Given the description of an element on the screen output the (x, y) to click on. 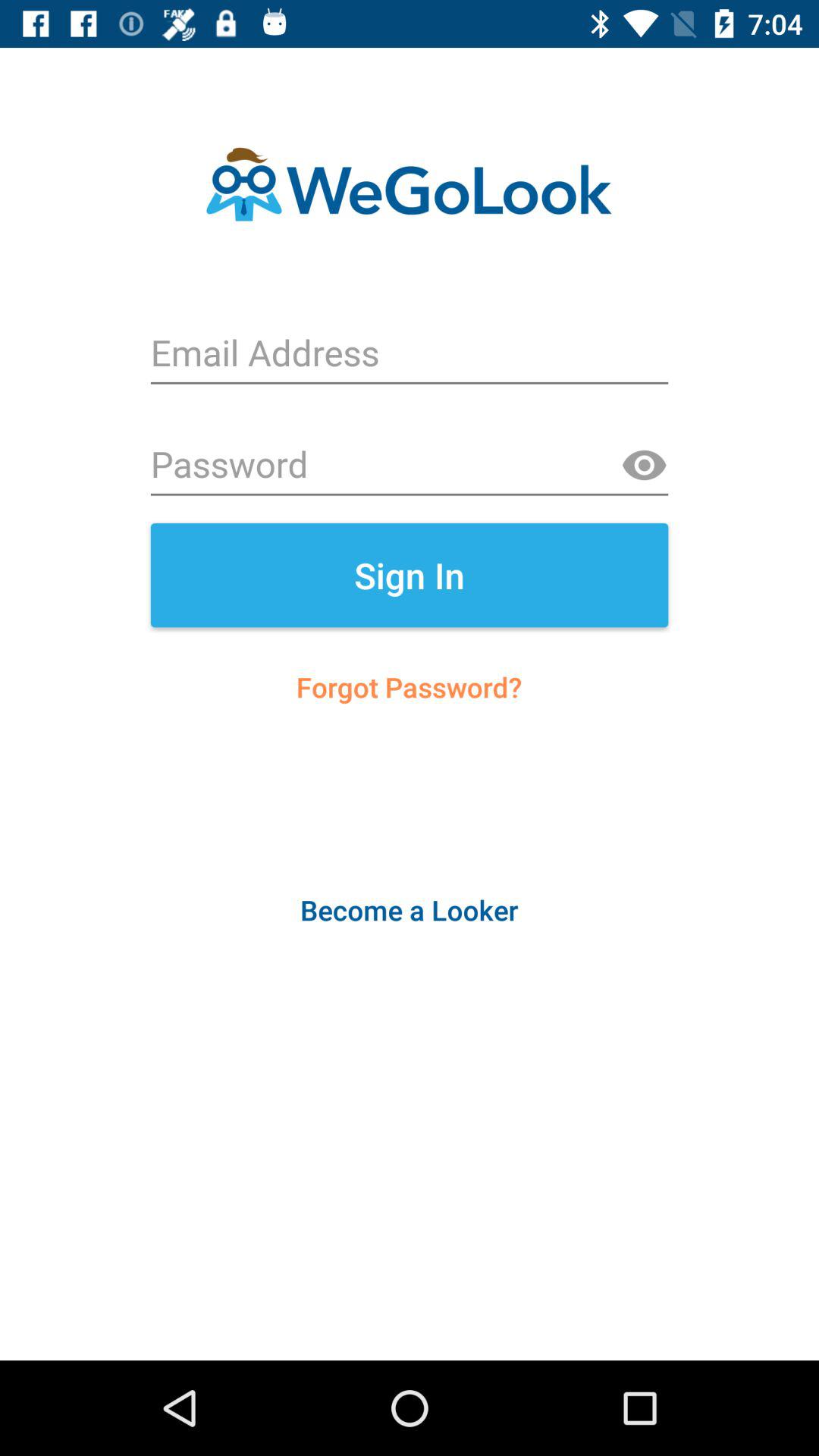
see password (644, 465)
